Given the description of an element on the screen output the (x, y) to click on. 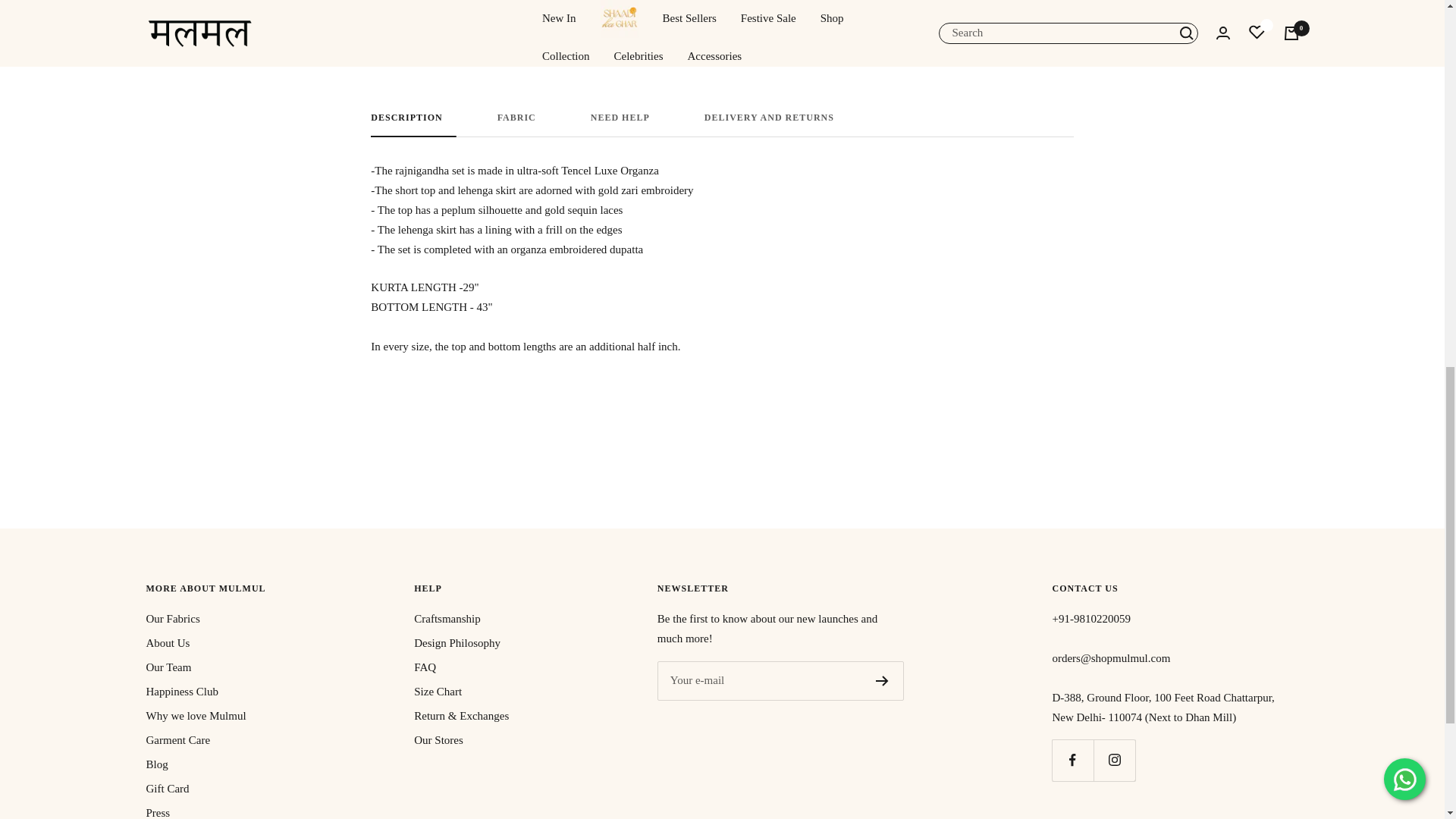
Register (722, 124)
